Given the description of an element on the screen output the (x, y) to click on. 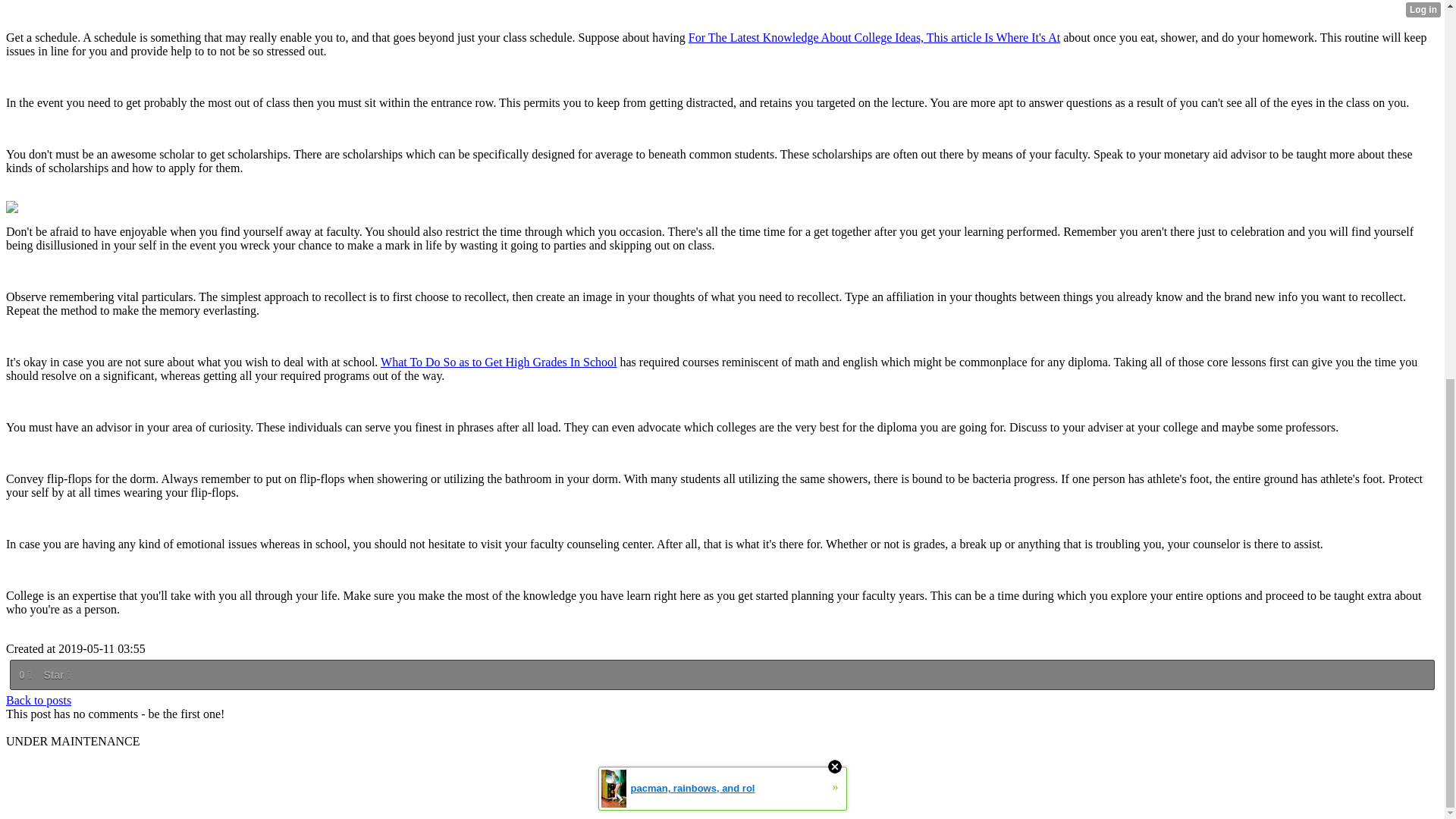
0 (24, 674)
Back to posts (38, 699)
Star (56, 674)
What To Do So as to Get High Grades In School (497, 361)
